Given the description of an element on the screen output the (x, y) to click on. 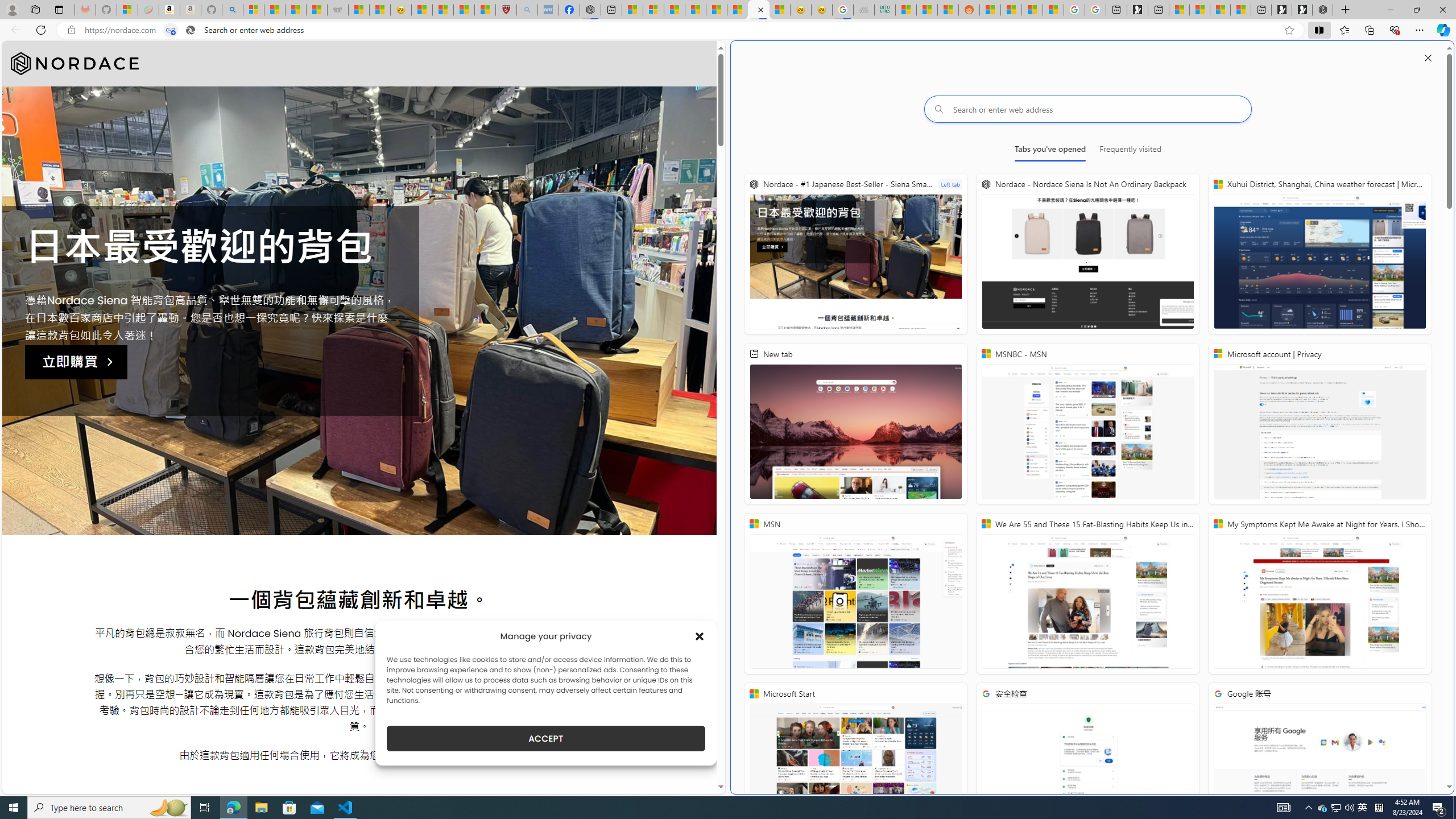
Microsoft Start (1219, 9)
Workspaces (34, 9)
New Tab (1346, 9)
MSN (855, 593)
Nordace - Nordace Siena Is Not An Ordinary Backpack (1087, 253)
Personal Profile (12, 9)
Nordace - #1 Japanese Best-Seller - Siena Smart Backpack (855, 253)
14 Common Myths Debunked By Scientific Facts (716, 9)
list of asthma inhalers uk - Search - Sleeping (527, 9)
Close (1442, 9)
Add this page to favorites (Ctrl+D) (1289, 29)
Browser essentials (1394, 29)
Robert H. Shmerling, MD - Harvard Health (505, 9)
